Given the description of an element on the screen output the (x, y) to click on. 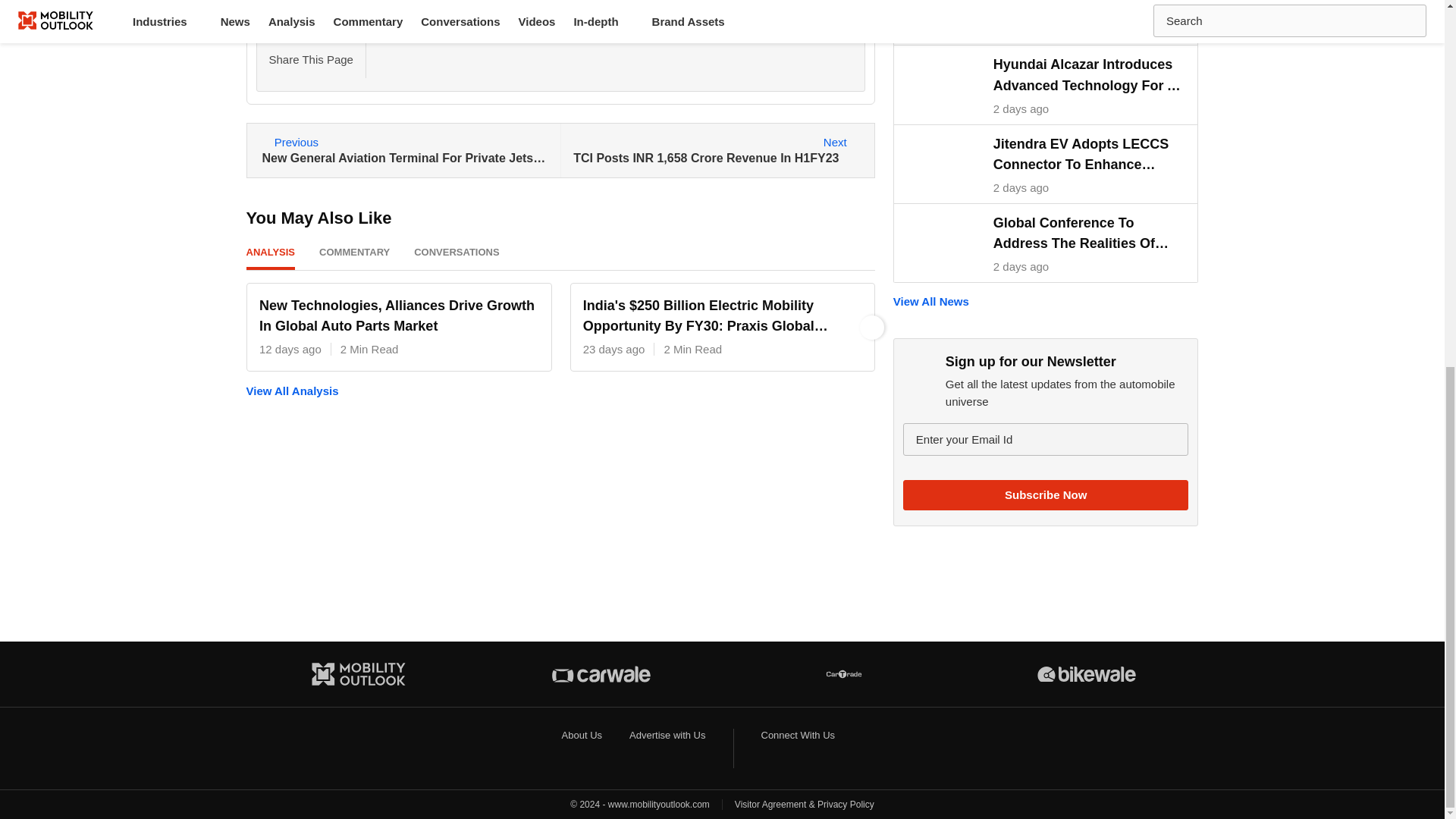
Subscribe Now (1045, 494)
View All News (1045, 300)
View All Analysis (560, 390)
Advertise with Us (666, 735)
About Us (582, 735)
Visitor Agreement (770, 804)
